Given the description of an element on the screen output the (x, y) to click on. 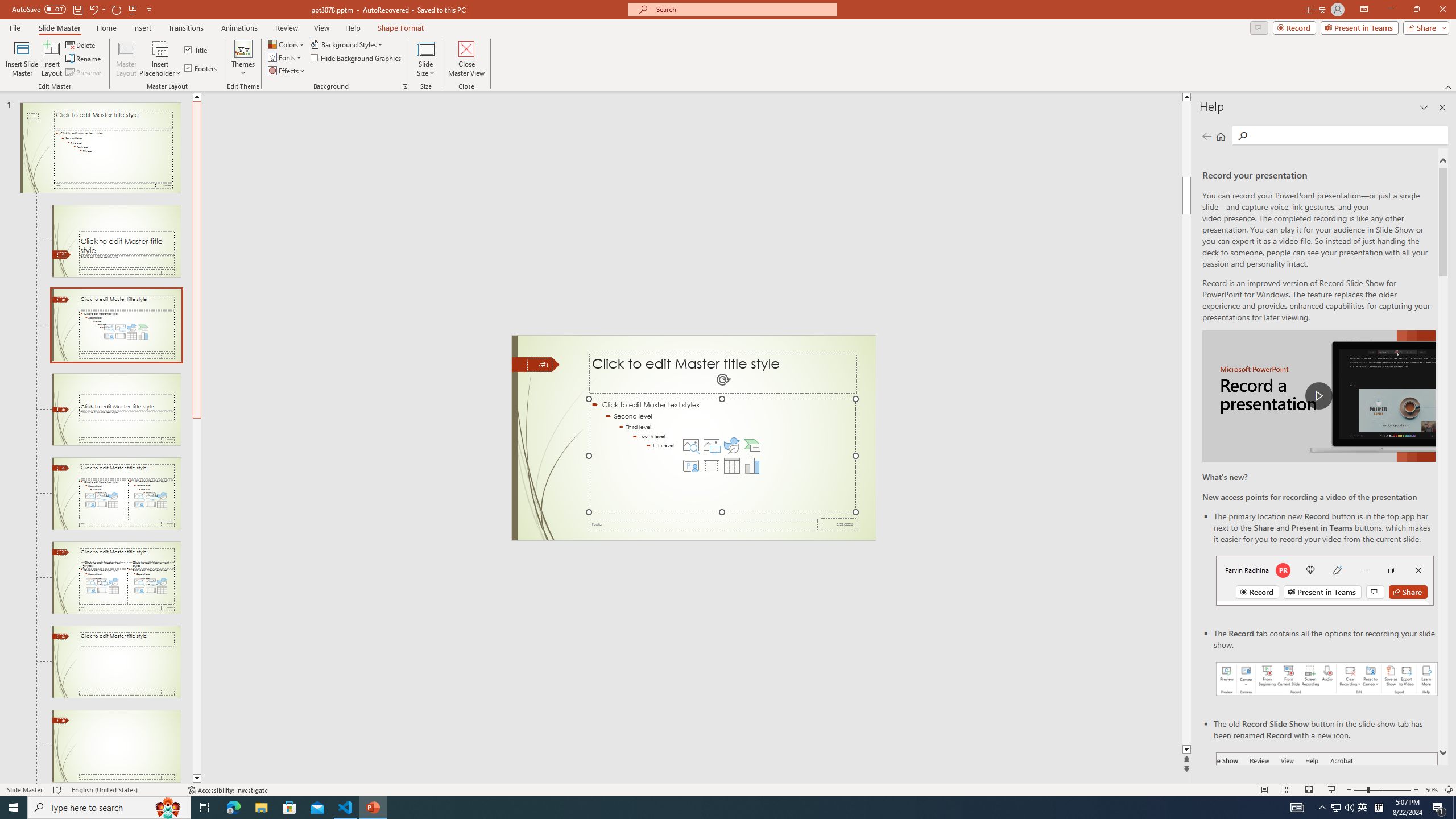
Themes (243, 58)
Content (160, 48)
Slide Comparison Layout: used by no slides (116, 577)
Preserve (84, 72)
Insert a SmartArt Graphic (752, 445)
Slide Two Content Layout: used by no slides (116, 493)
Insert Chart (752, 466)
Slide Title Only Layout: used by no slides (116, 661)
Content Placeholder (722, 455)
